Given the description of an element on the screen output the (x, y) to click on. 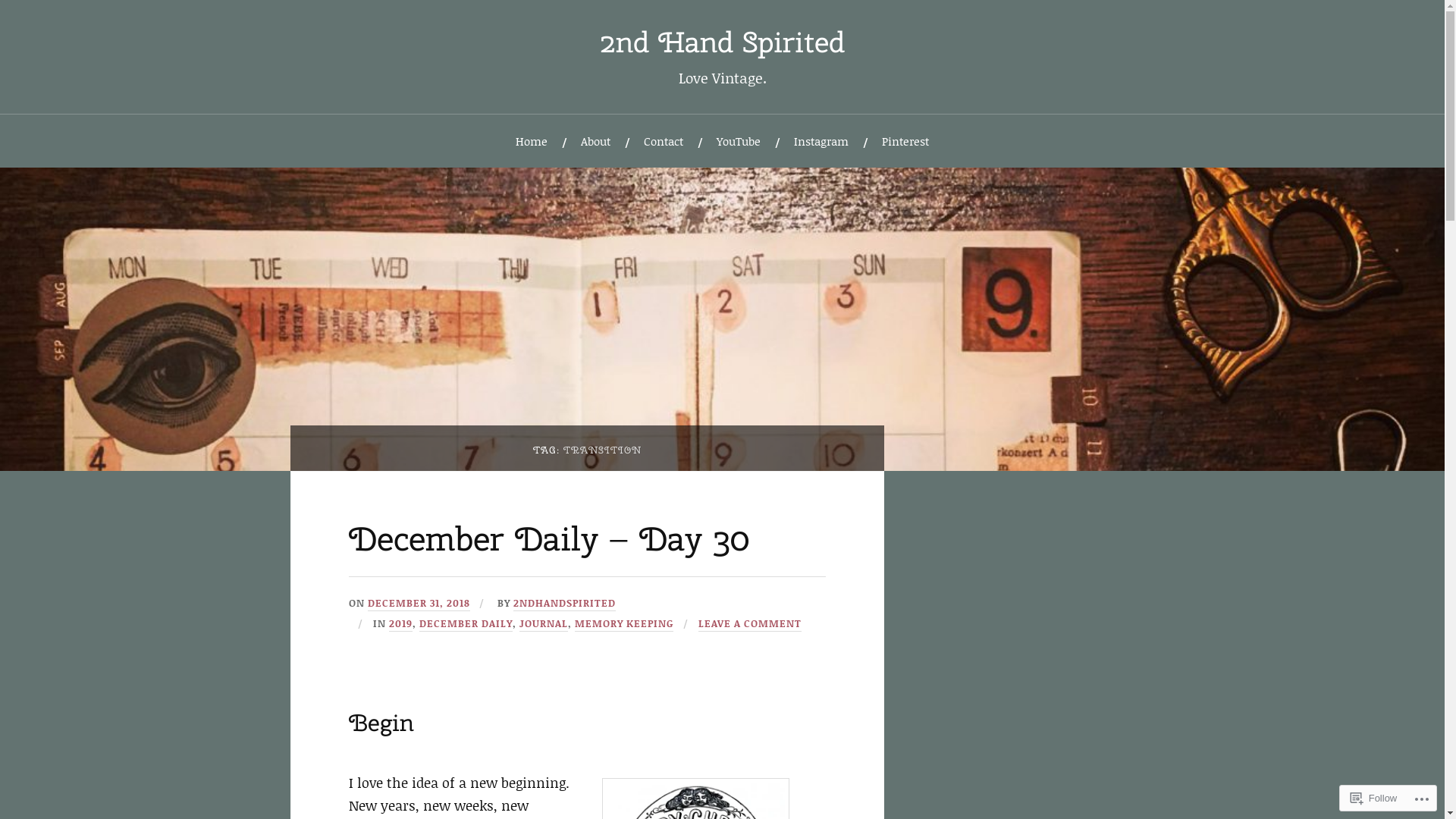
MEMORY KEEPING Element type: text (623, 623)
DECEMBER 31, 2018 Element type: text (418, 603)
JOURNAL Element type: text (543, 623)
YouTube Element type: text (738, 140)
Contact Element type: text (663, 140)
Instagram Element type: text (820, 140)
2NDHANDSPIRITED Element type: text (564, 603)
2nd Hand Spirited Element type: text (721, 41)
DECEMBER DAILY Element type: text (465, 623)
Follow Element type: text (1373, 797)
LEAVE A COMMENT Element type: text (749, 623)
About Element type: text (595, 140)
Pinterest Element type: text (904, 140)
2019 Element type: text (400, 623)
Home Element type: text (531, 140)
